Given the description of an element on the screen output the (x, y) to click on. 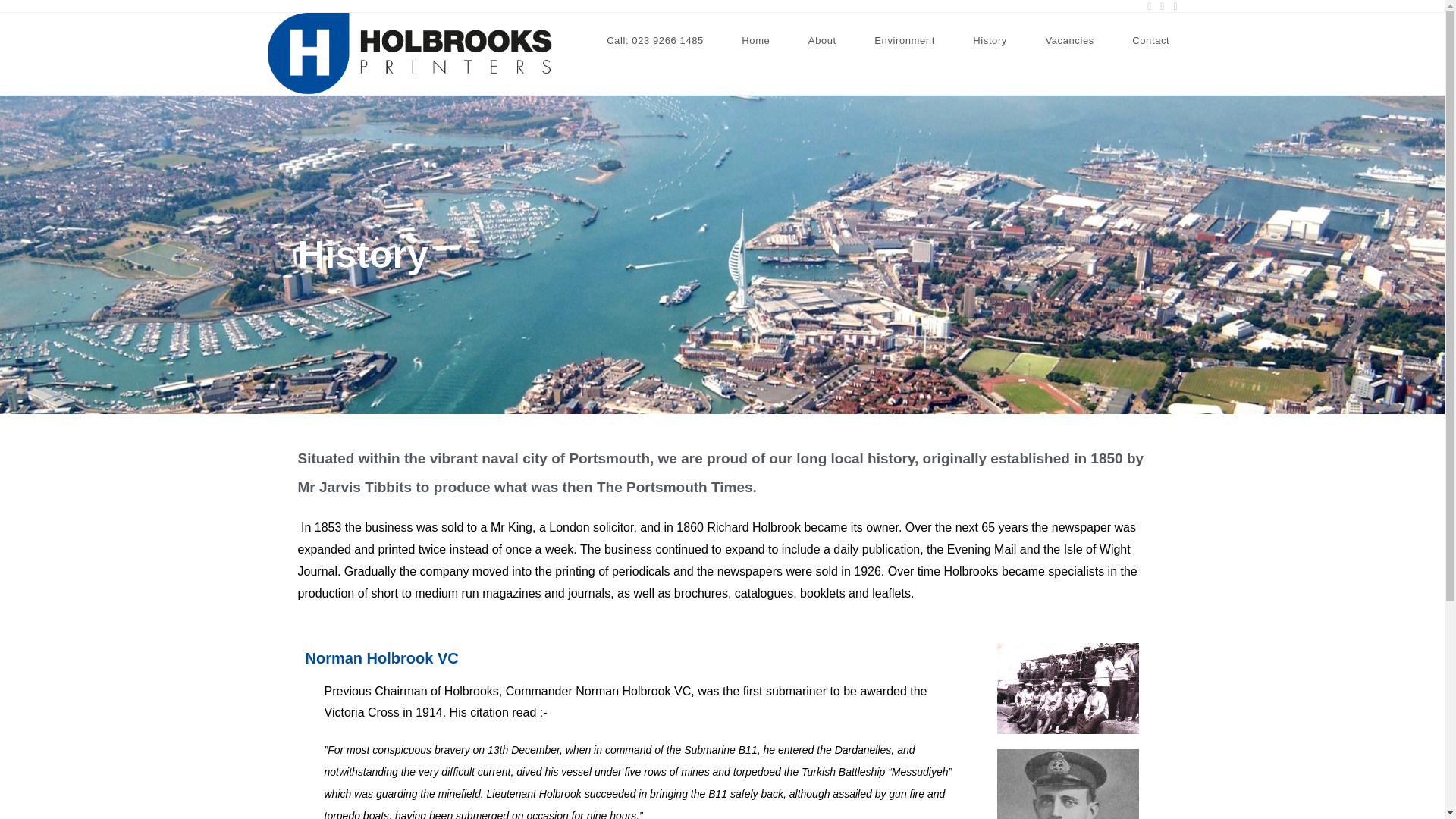
Vacancies (1069, 40)
History (989, 40)
Home (755, 40)
About (822, 40)
Call: 023 9266 1485 (655, 40)
Contact (1150, 40)
Environment (904, 40)
